Given the description of an element on the screen output the (x, y) to click on. 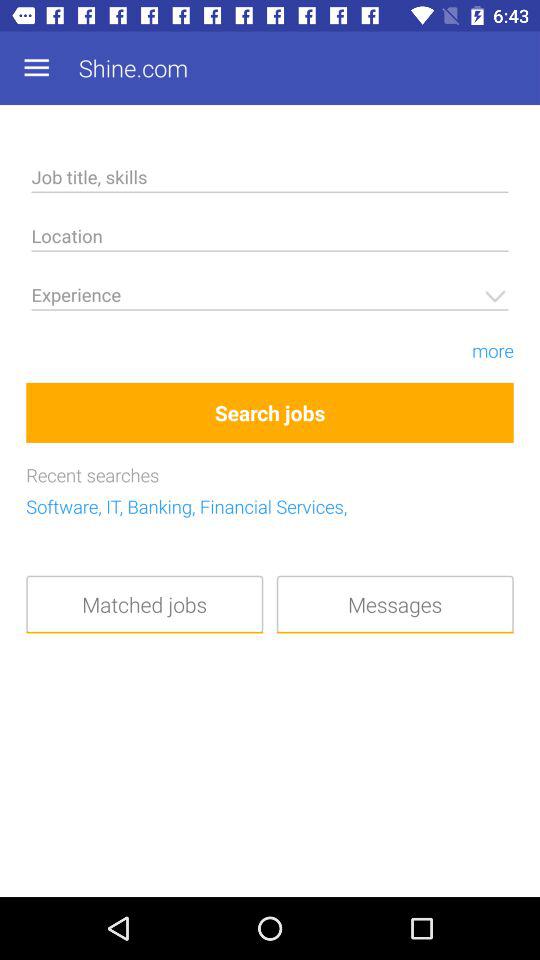
jobs experience (269, 298)
